Given the description of an element on the screen output the (x, y) to click on. 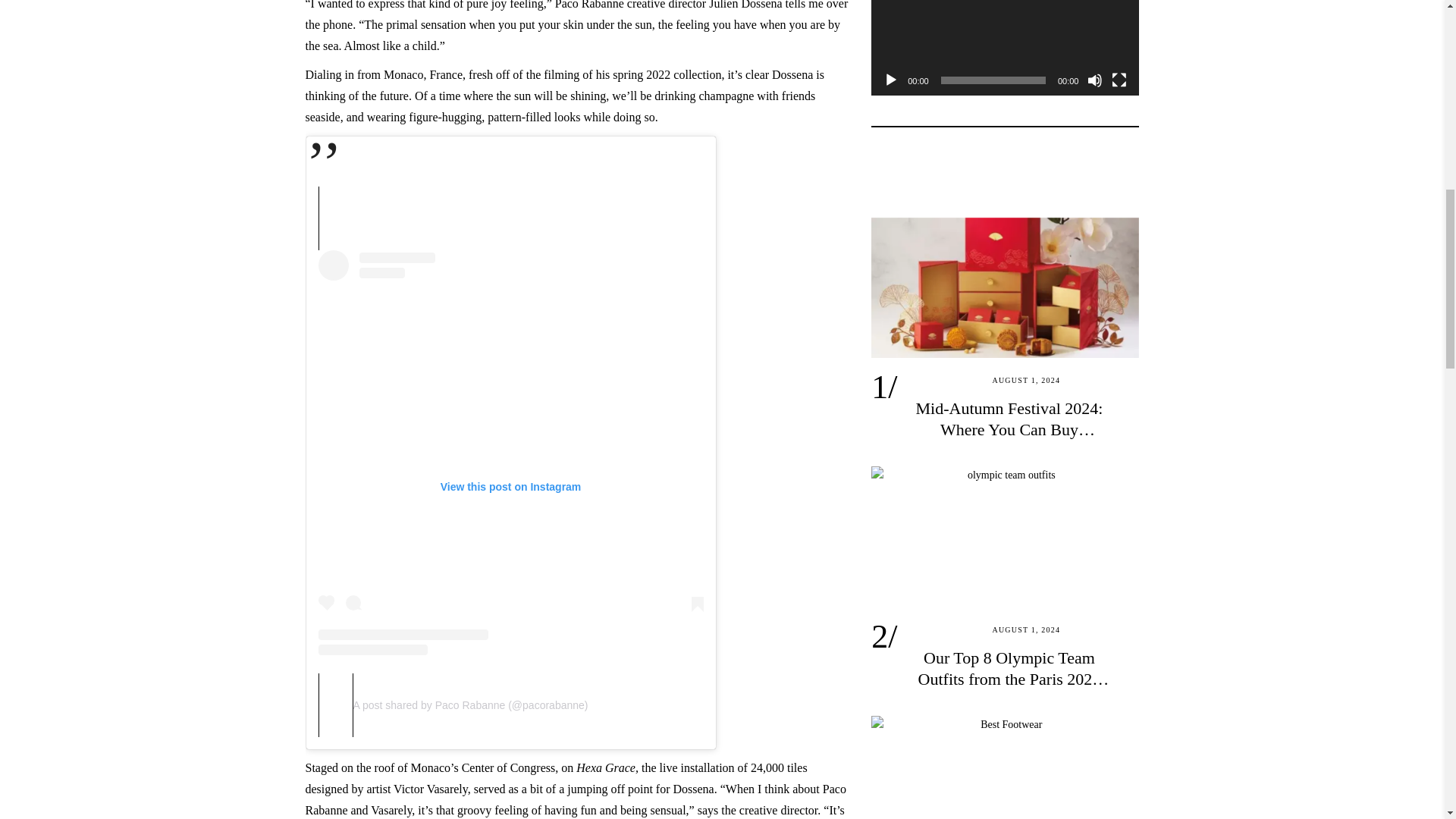
Mute (1094, 79)
Fullscreen (1119, 79)
Play (890, 79)
